Given the description of an element on the screen output the (x, y) to click on. 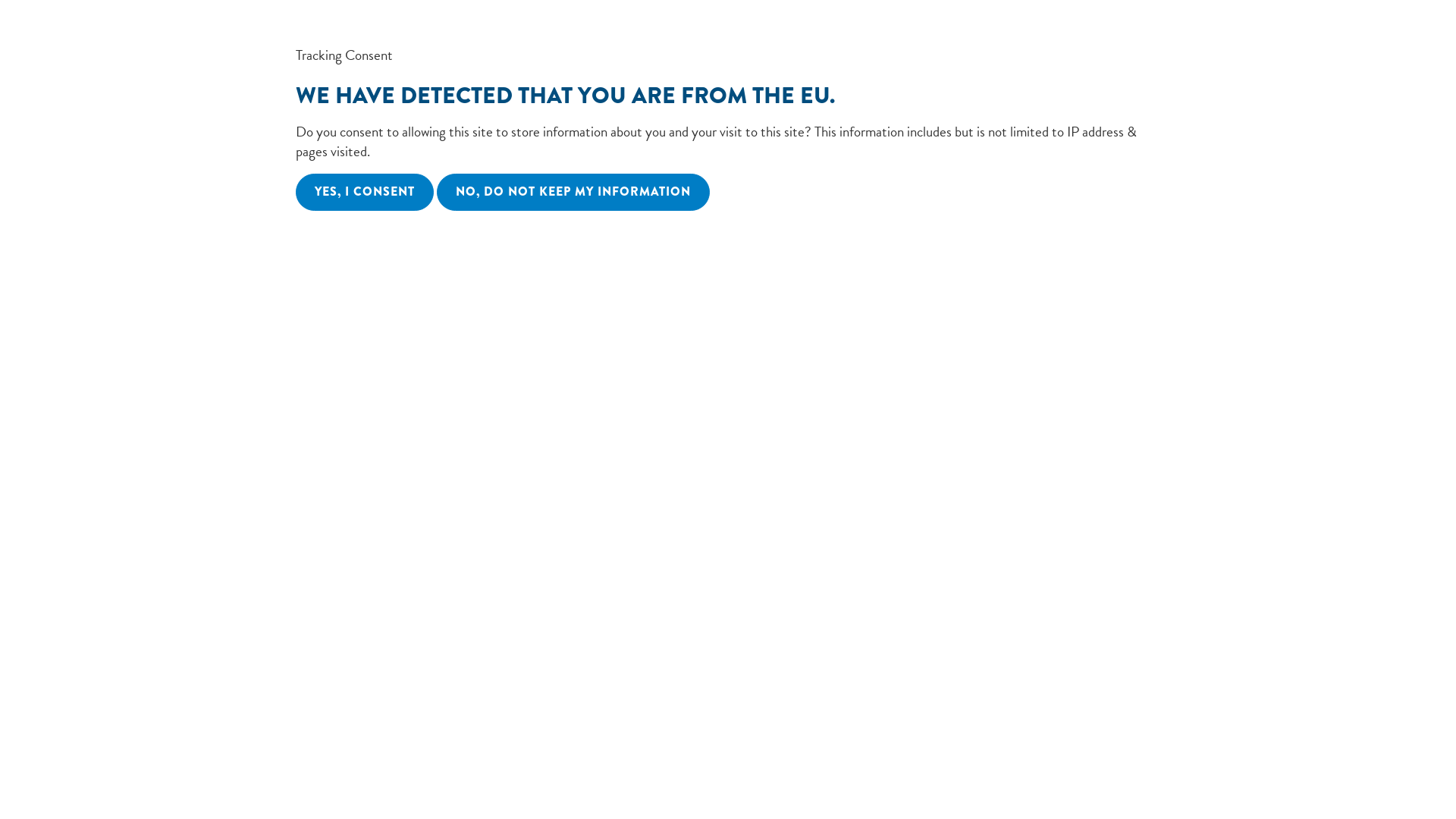
NO, DO NOT KEEP MY INFORMATION Element type: text (572, 191)
YES, I CONSENT Element type: text (364, 191)
